Given the description of an element on the screen output the (x, y) to click on. 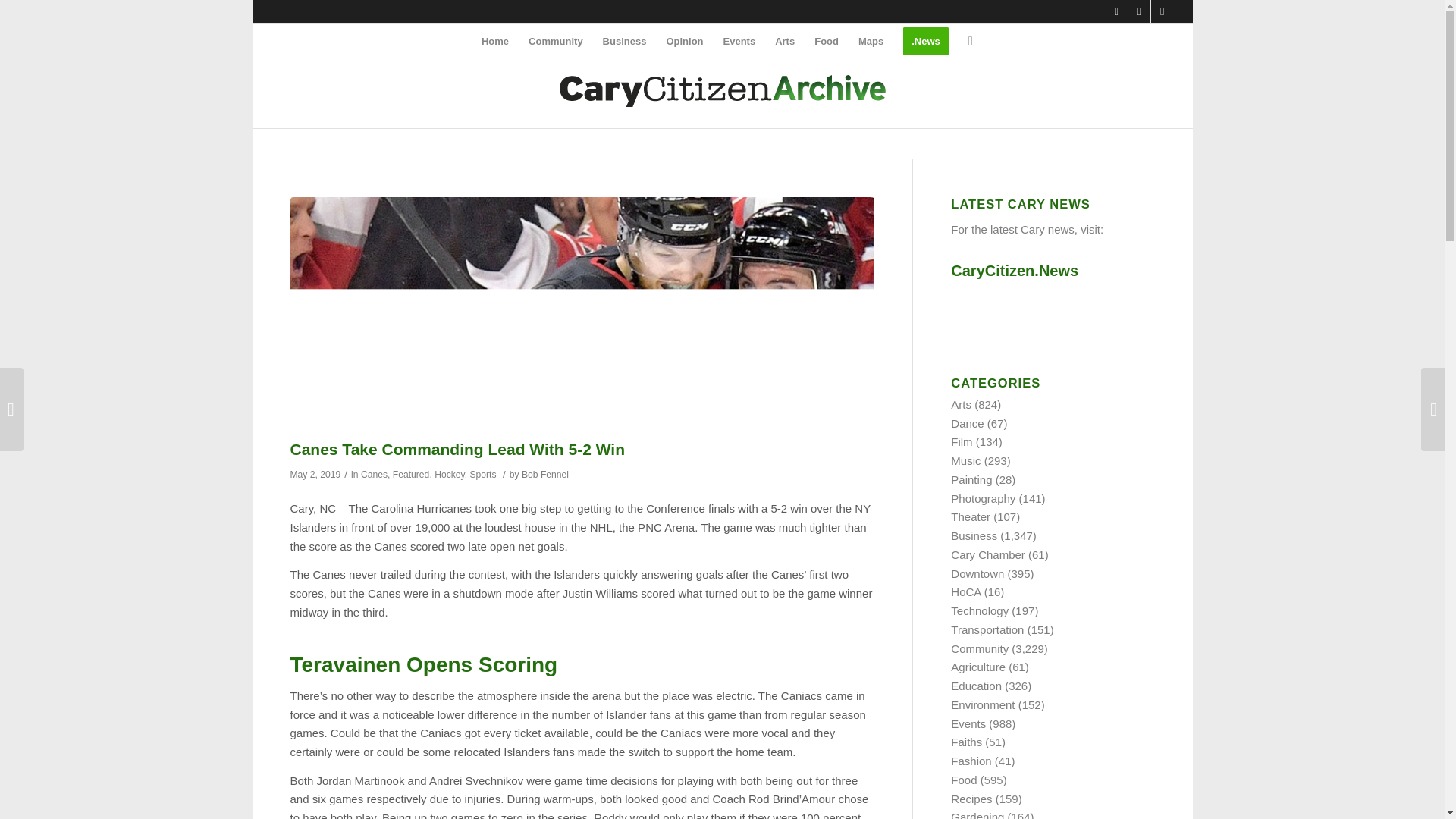
Posts by Bob Fennel (545, 474)
Sports (482, 474)
Opinion (684, 41)
Food (826, 41)
Business (624, 41)
Community (555, 41)
Maps (870, 41)
Featured (411, 474)
Bob Fennel (545, 474)
Home (494, 41)
